Given the description of an element on the screen output the (x, y) to click on. 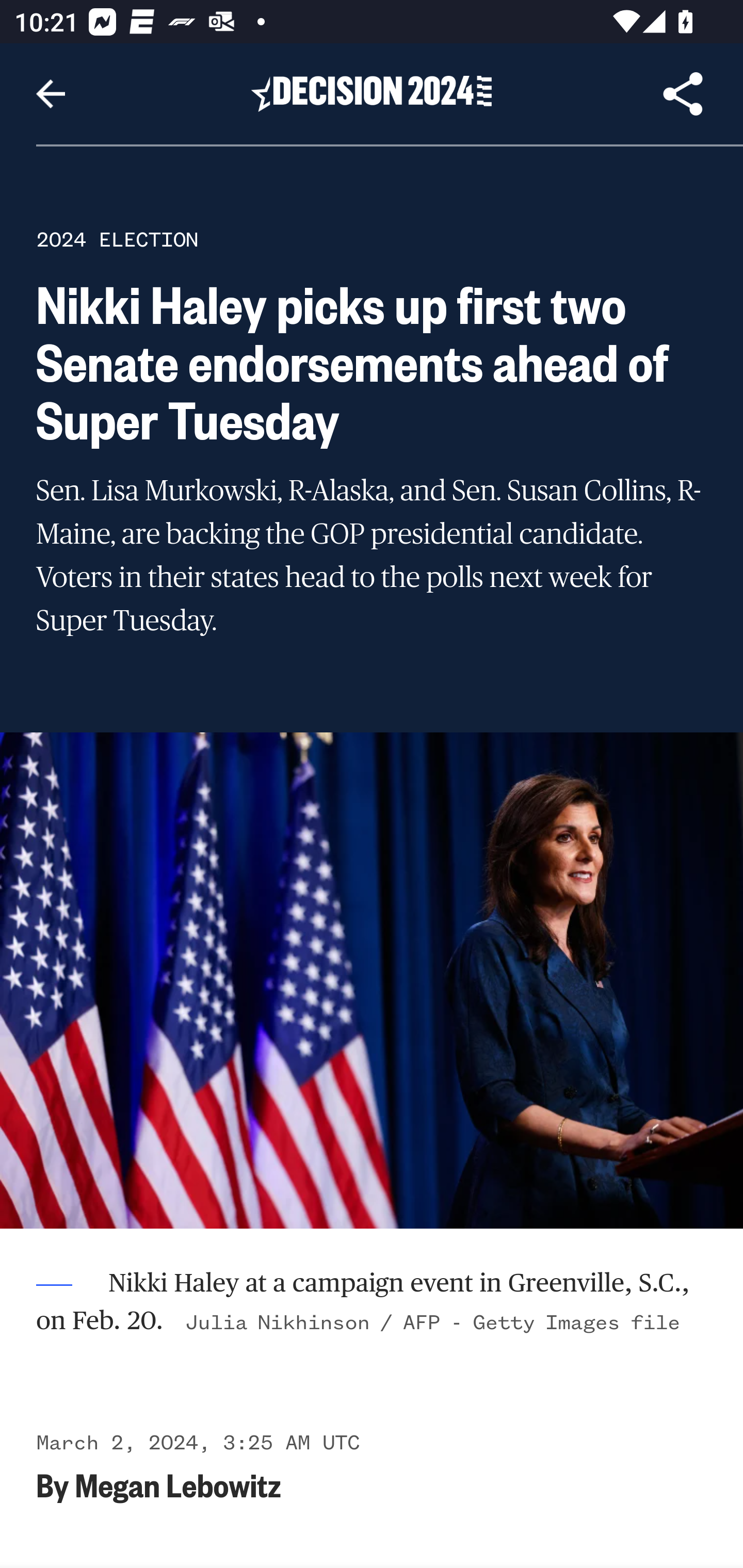
Navigate up (50, 93)
Share Article, button (683, 94)
Header, Decision 2024 (371, 93)
2024 ELECTION (117, 239)
